Given the description of an element on the screen output the (x, y) to click on. 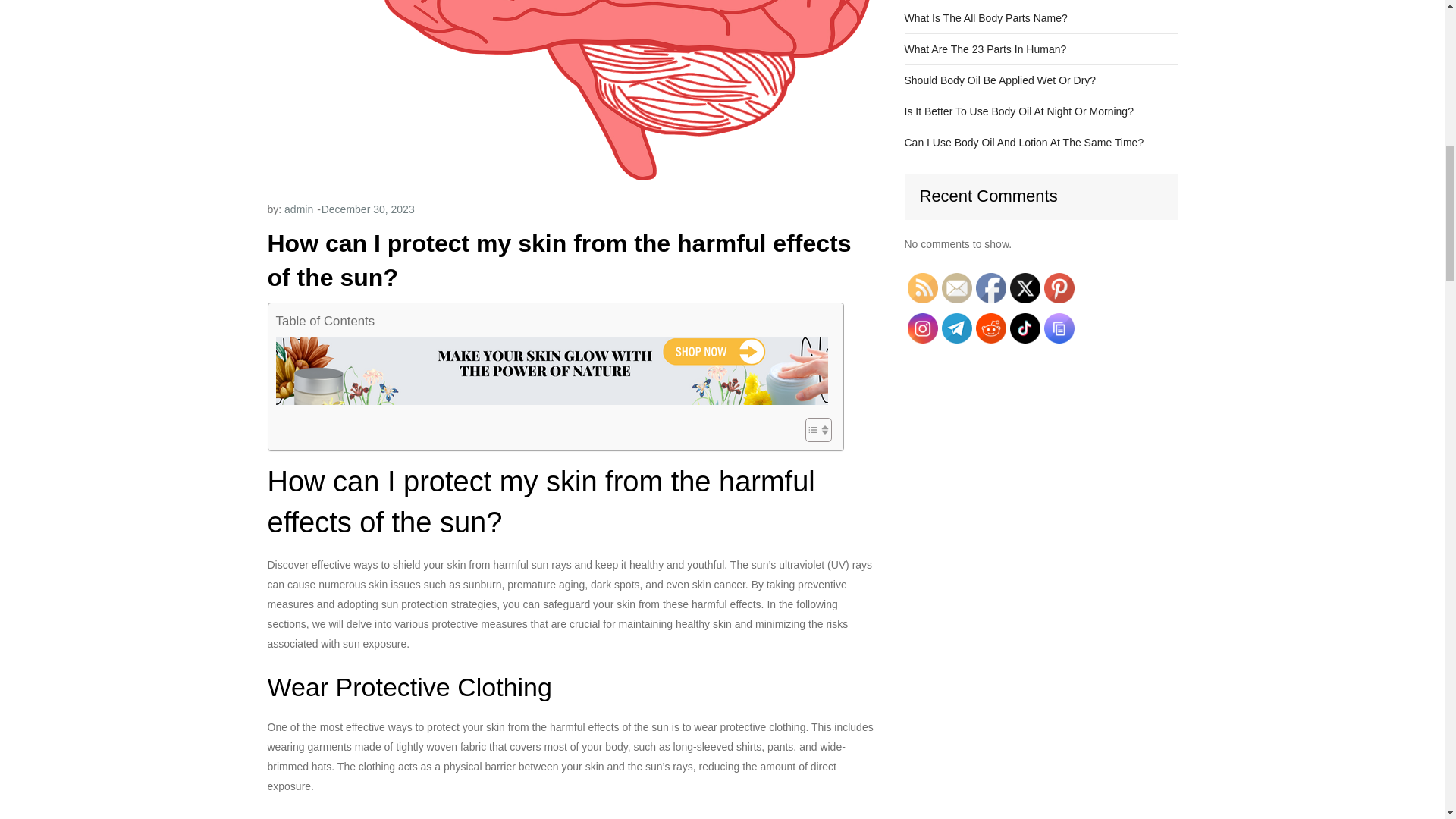
December 30, 2023 (367, 209)
admin (298, 209)
